Given the description of an element on the screen output the (x, y) to click on. 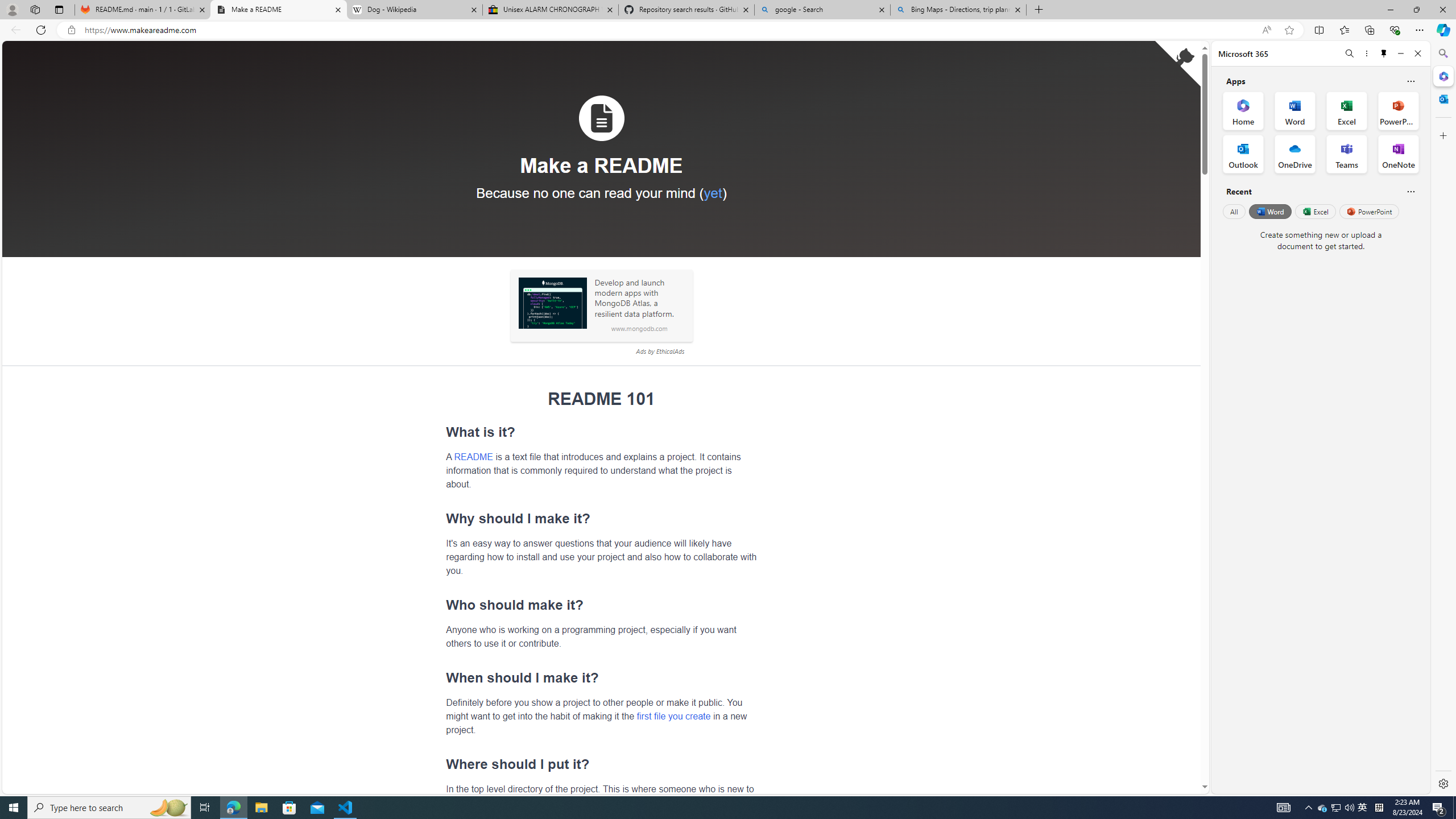
PowerPoint Office App (1398, 110)
Word (1269, 210)
Teams Office App (1346, 154)
Sponsored: MongoDB (552, 302)
